Given the description of an element on the screen output the (x, y) to click on. 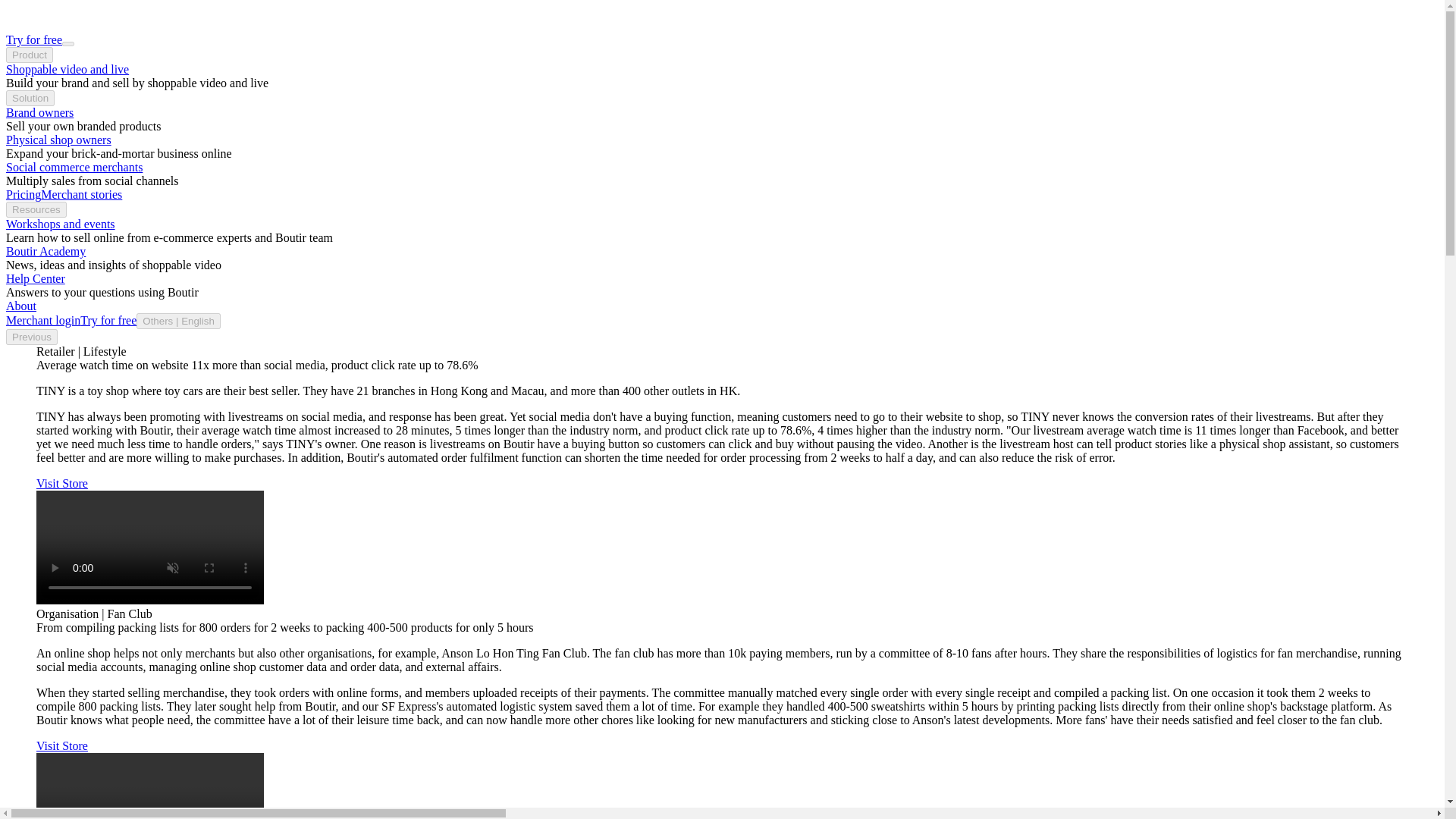
Brand owners (39, 112)
Merchant login (42, 319)
Workshops and events (60, 223)
Boutir Academy (45, 250)
Resources (35, 209)
About (20, 305)
Physical shop owners (58, 139)
Try for free (108, 319)
Product (28, 54)
Merchant stories (81, 194)
